Given the description of an element on the screen output the (x, y) to click on. 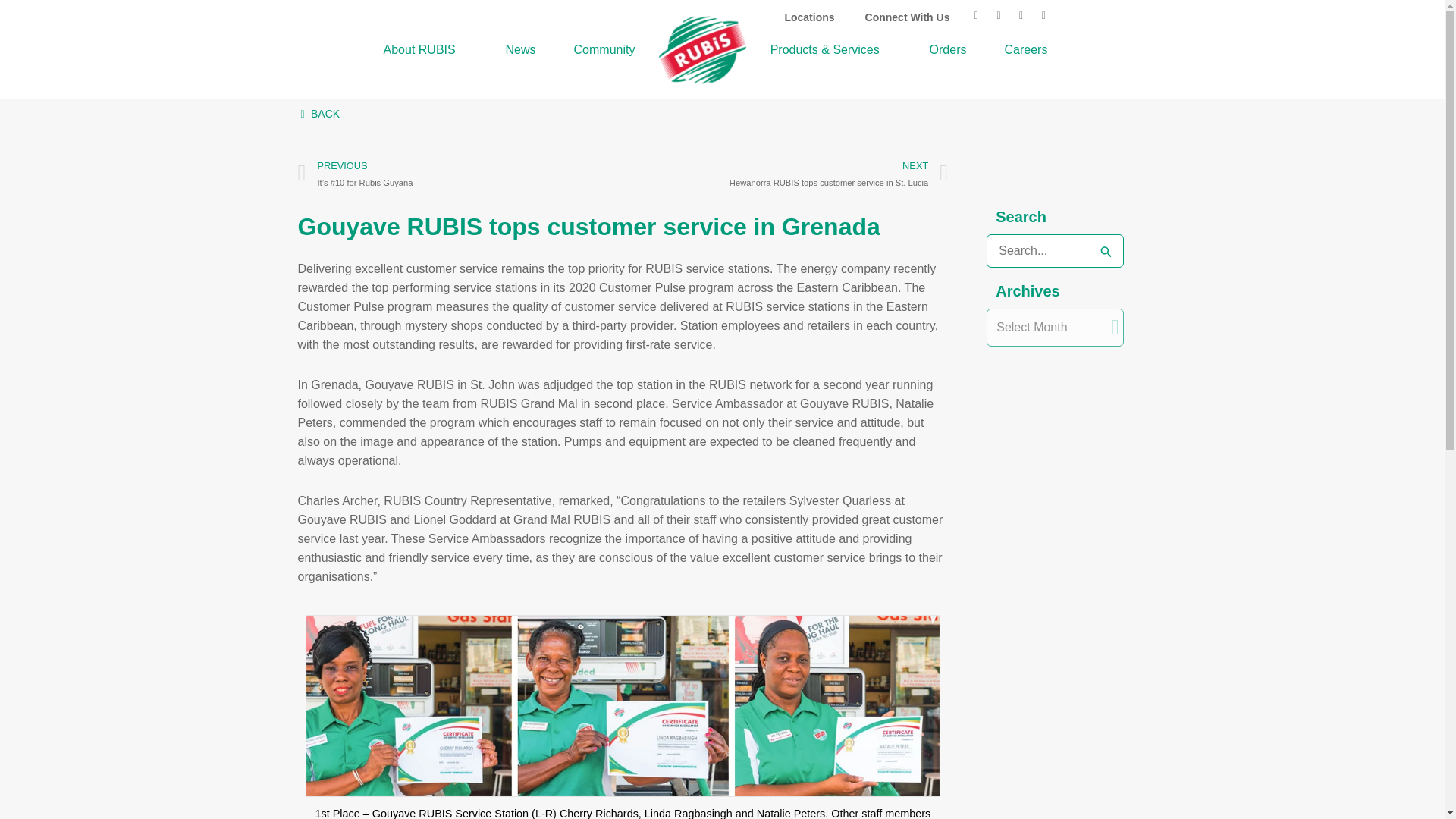
Search (1106, 250)
Search (1106, 250)
